Given the description of an element on the screen output the (x, y) to click on. 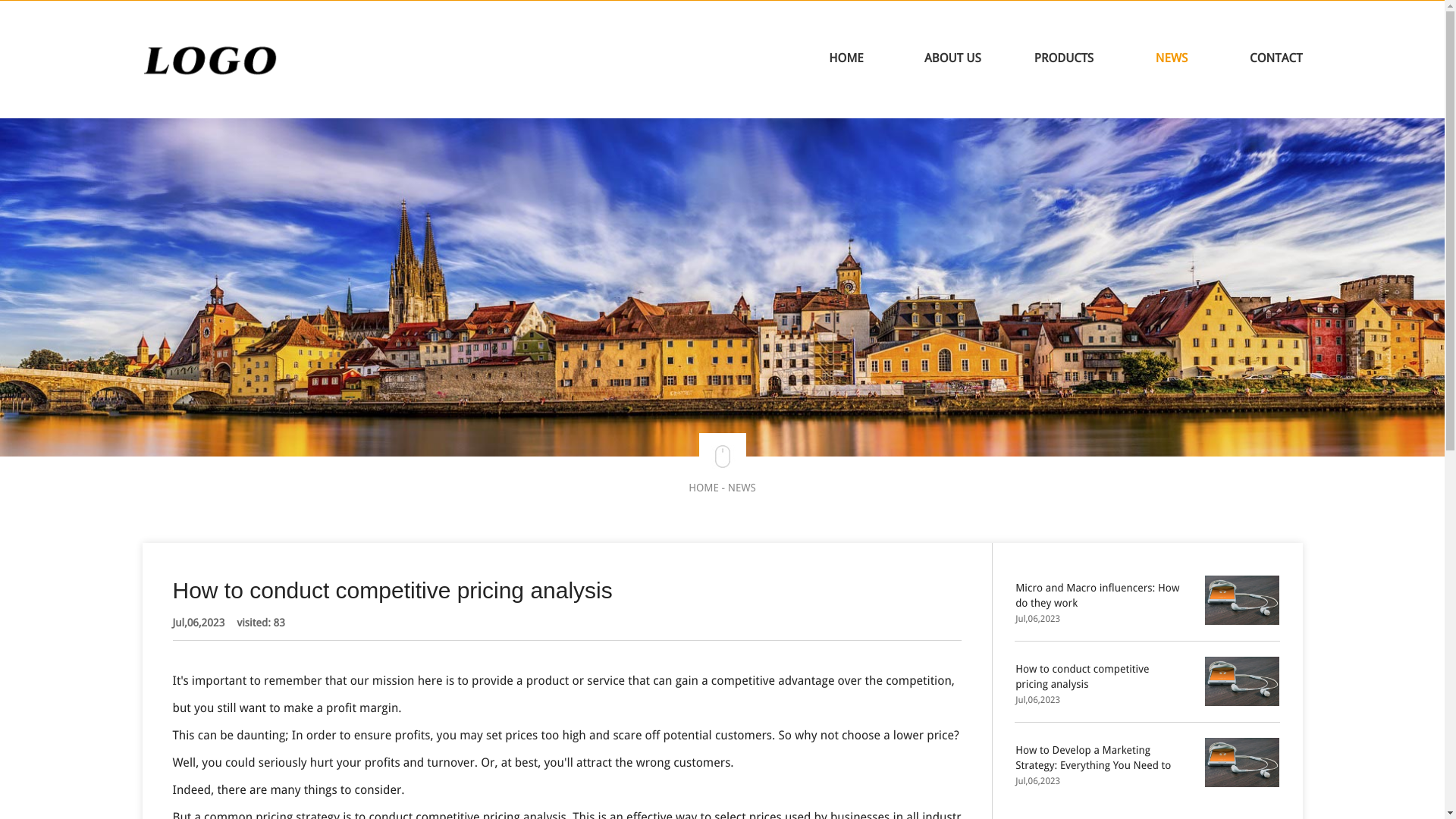
ABOUT US (952, 58)
HOME (703, 487)
HOME (845, 58)
NEWS (741, 487)
PRODUCTS (1063, 58)
NEWS (1171, 58)
CONTACT (1276, 58)
